Given the description of an element on the screen output the (x, y) to click on. 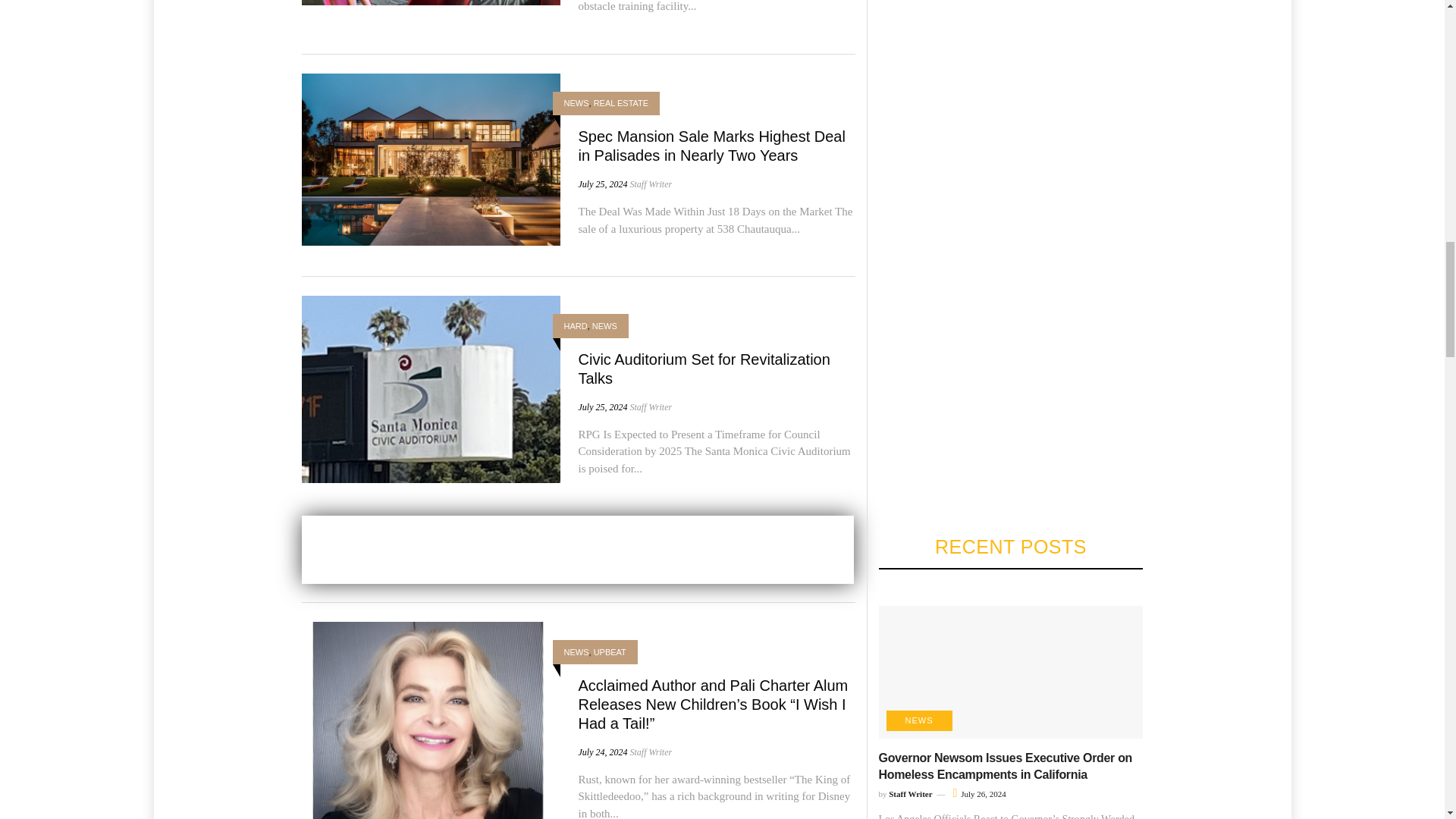
Posts by Staff Writer (649, 184)
Civic Auditorium Set for Revitalization Talks (430, 387)
Civic Auditorium Set for Revitalization Talks (703, 367)
